Given the description of an element on the screen output the (x, y) to click on. 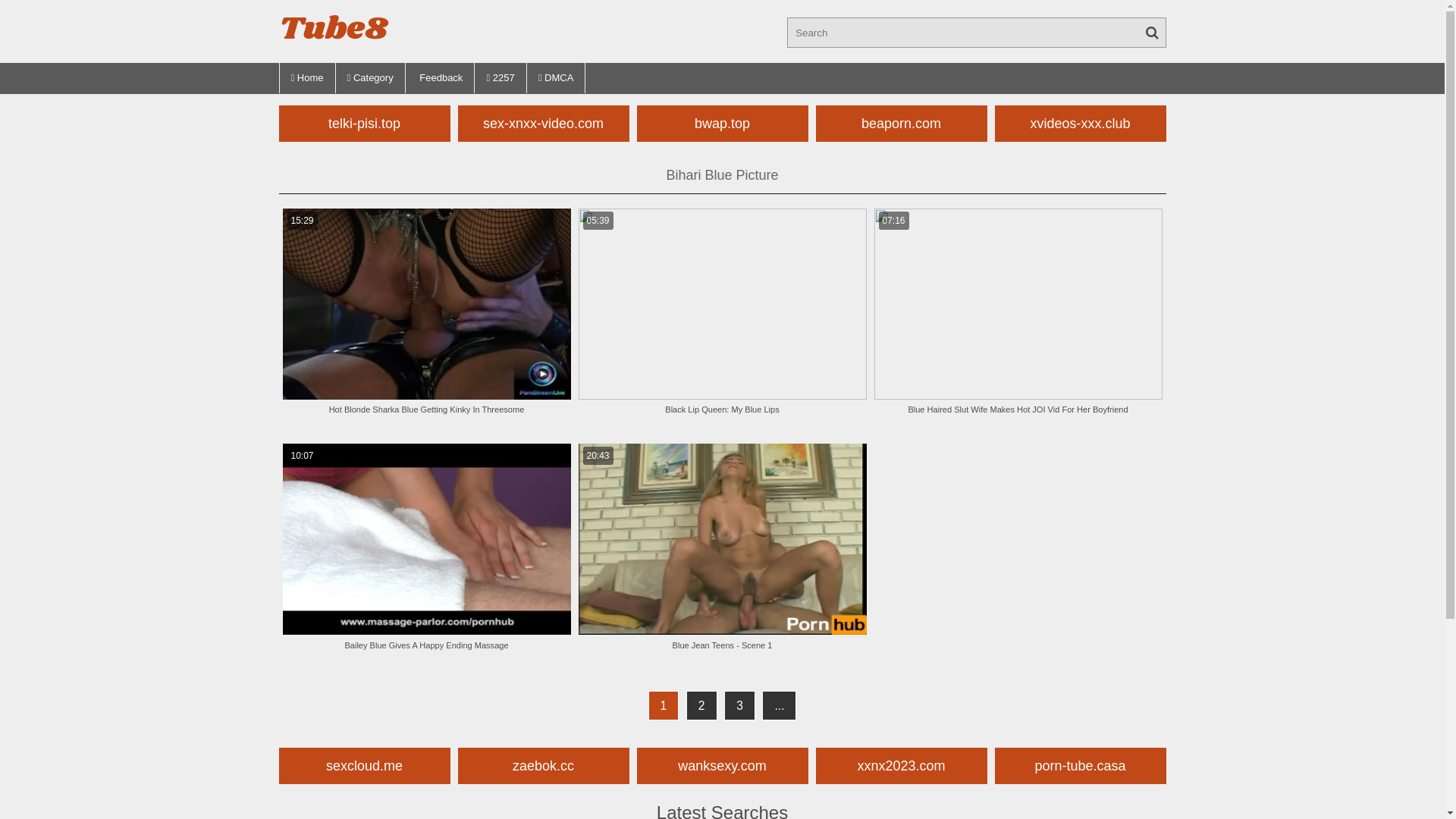
3 Element type: text (739, 705)
bwap.top Element type: text (722, 123)
sex-xnxx-video.com Element type: text (543, 123)
xvideos-xxx.club Element type: text (1080, 123)
2257 Element type: text (500, 77)
beaporn.com Element type: text (901, 123)
sexcloud.me Element type: text (364, 765)
Feedback Element type: text (440, 77)
Home Element type: text (307, 77)
10:07
Bailey Blue Gives A Happy Ending Massage Element type: text (426, 553)
DMCA Element type: text (556, 77)
Tube8 Element type: text (333, 25)
wanksexy.com Element type: text (722, 765)
2 Element type: text (701, 705)
20:43
Blue Jean Teens - Scene 1 Element type: text (721, 553)
porn-tube.casa Element type: text (1080, 765)
... Element type: text (779, 705)
zaebok.cc Element type: text (543, 765)
15:29
Hot Blonde Sharka Blue Getting Kinky In Threesome Element type: text (426, 318)
Category Element type: text (370, 77)
telki-pisi.top Element type: text (364, 123)
05:39
Black Lip Queen: My Blue Lips Element type: text (721, 318)
xxnx2023.com Element type: text (901, 765)
